Given the description of an element on the screen output the (x, y) to click on. 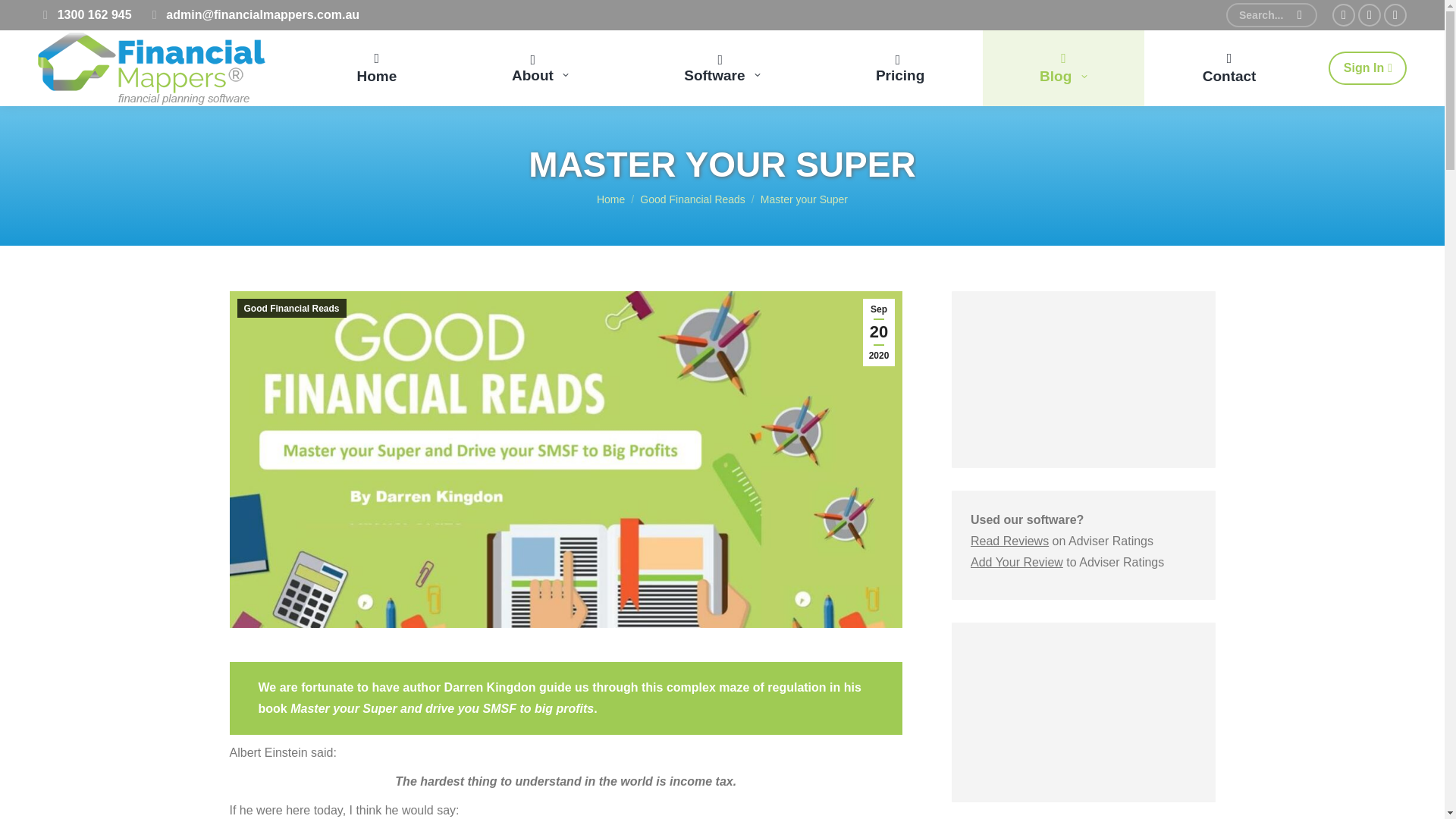
Home (610, 199)
Software   (722, 68)
Facebook page opens in new window (1343, 15)
Contact (1228, 68)
Go! (32, 18)
Pricing (899, 68)
1300 162 945 (84, 14)
YouTube page opens in new window (1395, 15)
About   (540, 68)
Blog   (1063, 68)
Facebook page opens in new window (1343, 15)
Good Financial Reads (692, 199)
Sign In (1366, 68)
Home (376, 68)
YouTube page opens in new window (1395, 15)
